Given the description of an element on the screen output the (x, y) to click on. 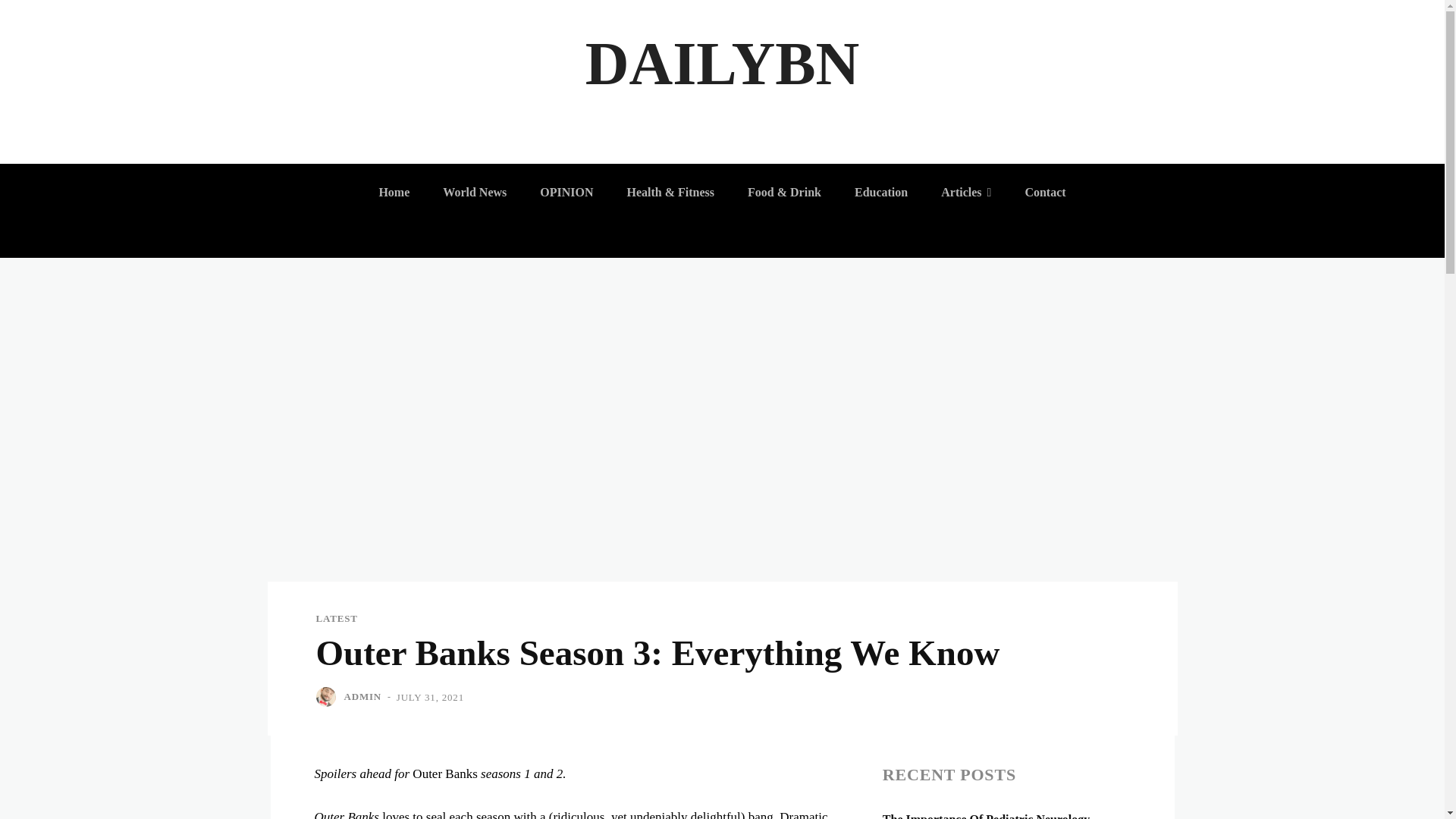
ADMIN (362, 696)
DAILYBN (722, 63)
OPINION (566, 192)
Articles (965, 192)
LATEST (335, 618)
World News (474, 192)
Education (881, 192)
Home (394, 192)
Admin (327, 696)
The Importance Of Pediatric Neurology (985, 816)
